Given the description of an element on the screen output the (x, y) to click on. 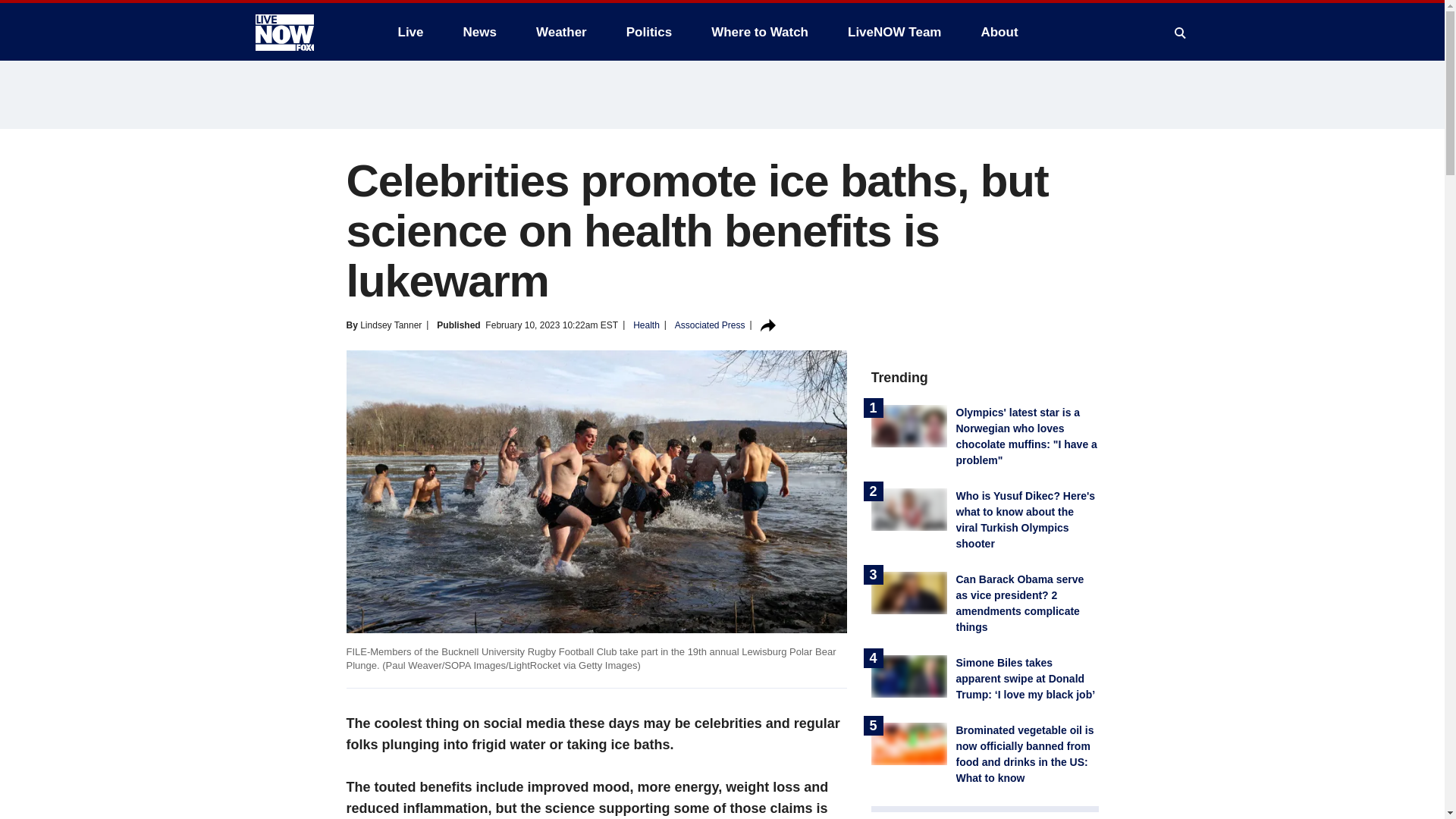
Weather (561, 32)
Live (410, 32)
LiveNOW Team (894, 32)
Politics (649, 32)
News (479, 32)
Where to Watch (759, 32)
About (998, 32)
